Given the description of an element on the screen output the (x, y) to click on. 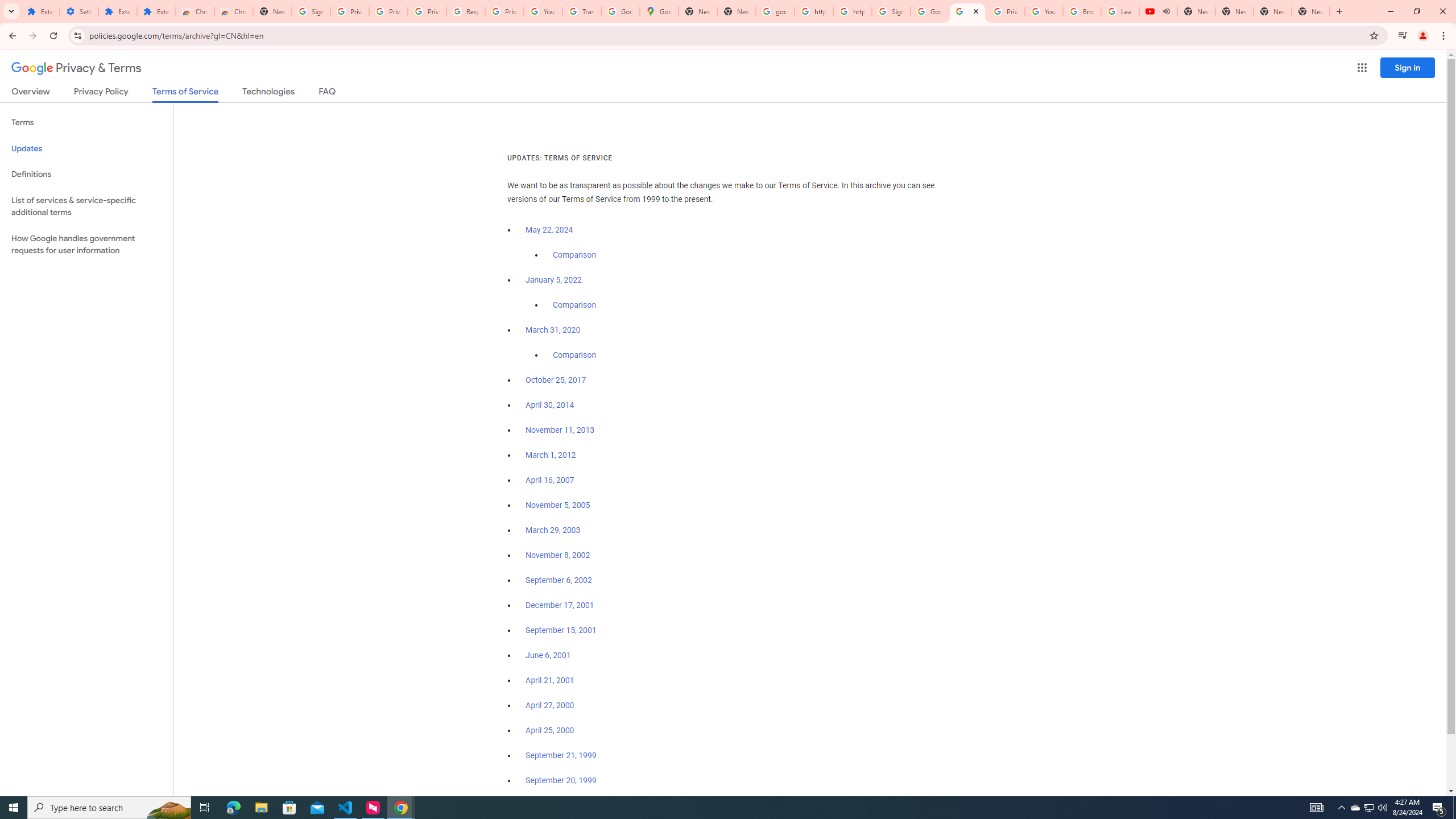
September 20, 1999 (560, 780)
YouTube (542, 11)
September 6, 2002 (558, 579)
May 22, 2024 (549, 230)
April 30, 2014 (550, 405)
April 27, 2000 (550, 705)
New Tab (1311, 11)
